Given the description of an element on the screen output the (x, y) to click on. 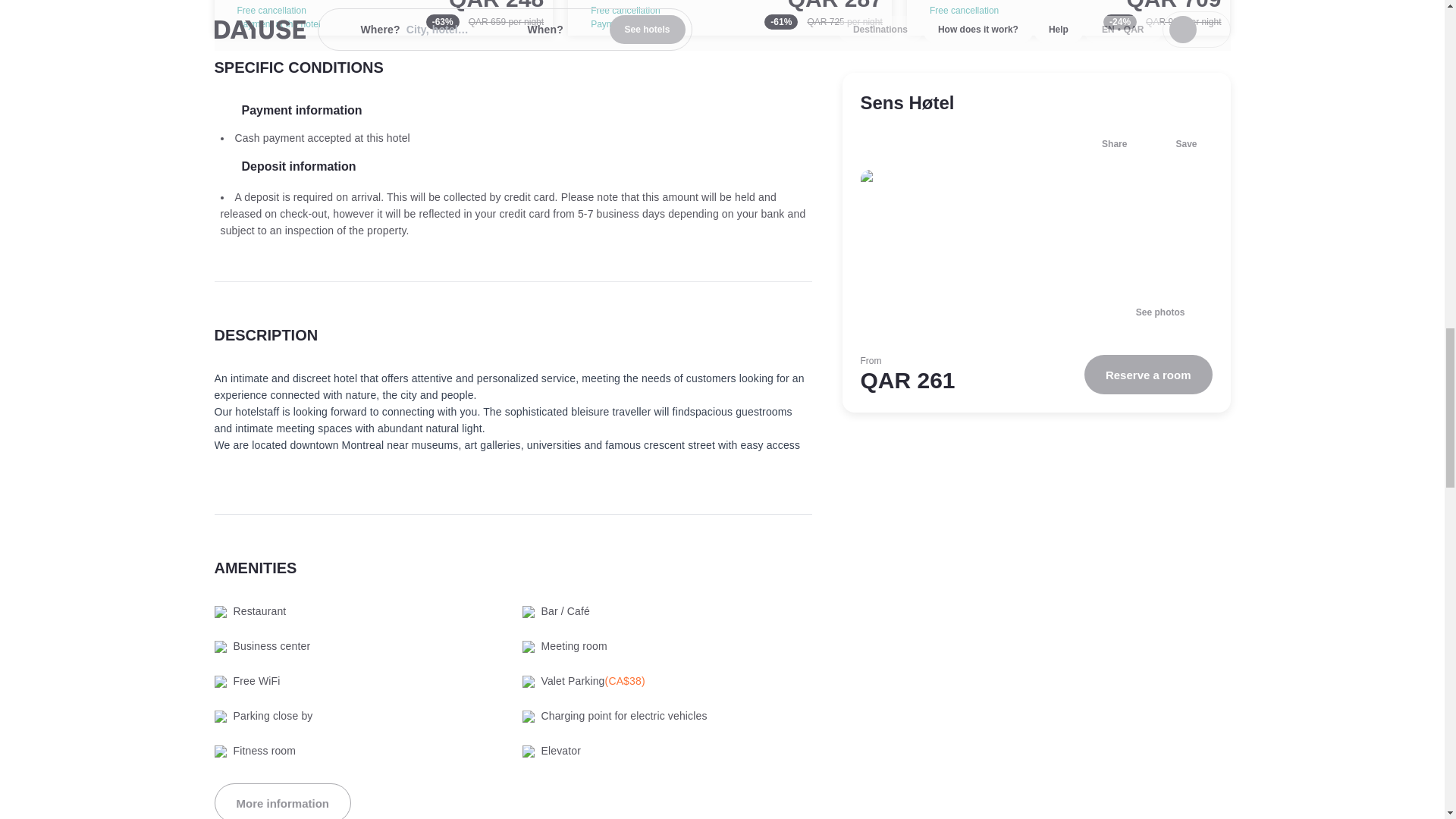
Hotel Le Mount Stephen (1068, 18)
Le Nouvel Hotel (729, 18)
Chateau Versailles Montreal (383, 18)
